Given the description of an element on the screen output the (x, y) to click on. 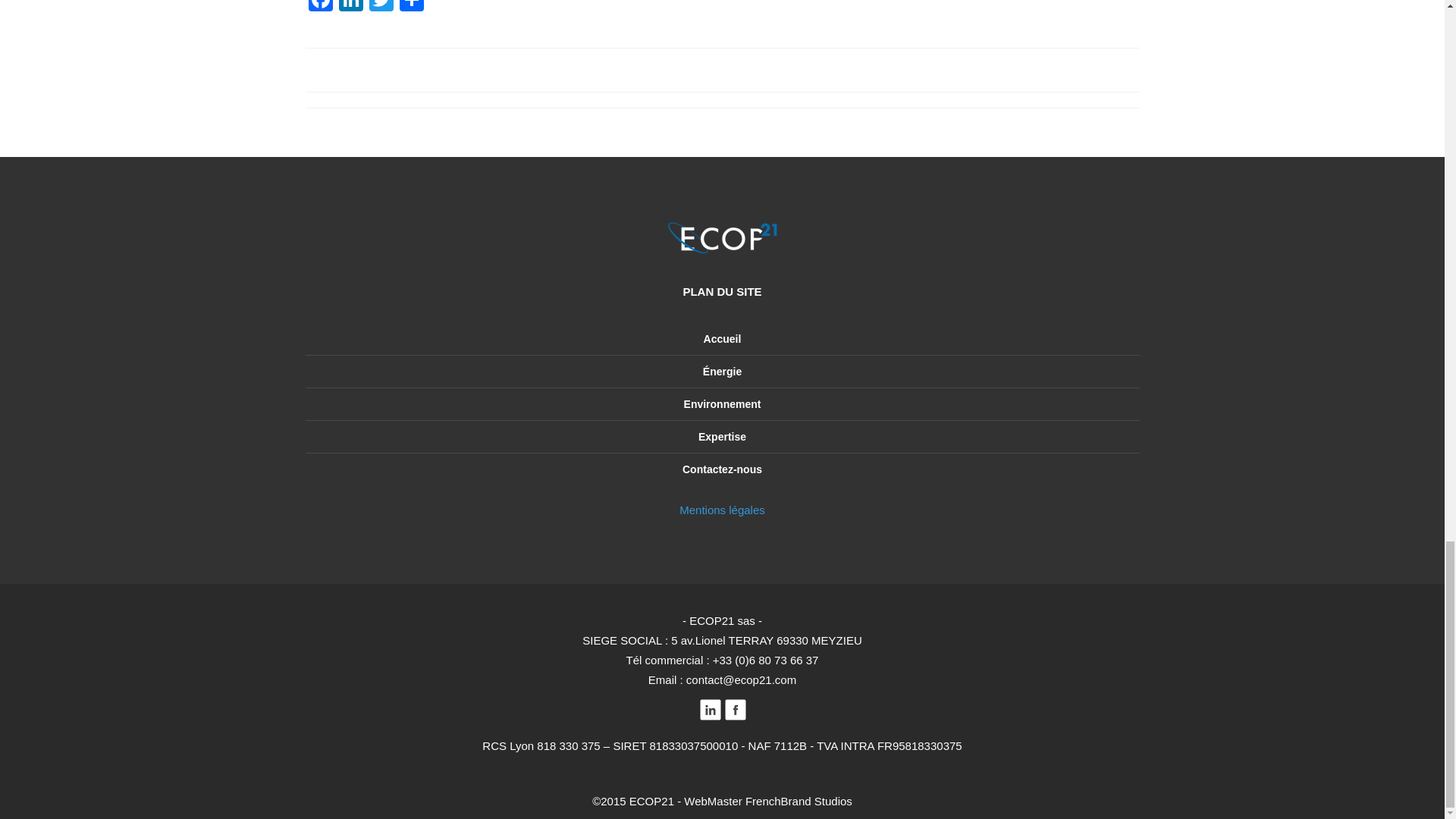
Twitter (380, 7)
Facebook (319, 7)
FrenchBrand Studios (798, 800)
Logo Ecop 21 (721, 237)
Expertise (721, 436)
Contactez-nous (721, 469)
Visit Us On Linkedin (709, 717)
Facebook (319, 7)
LinkedIn (349, 7)
Environnement (722, 404)
LinkedIn (349, 7)
Partager (411, 7)
Visit Us On Facebook (734, 717)
Twitter (380, 7)
Accueil (722, 338)
